Given the description of an element on the screen output the (x, y) to click on. 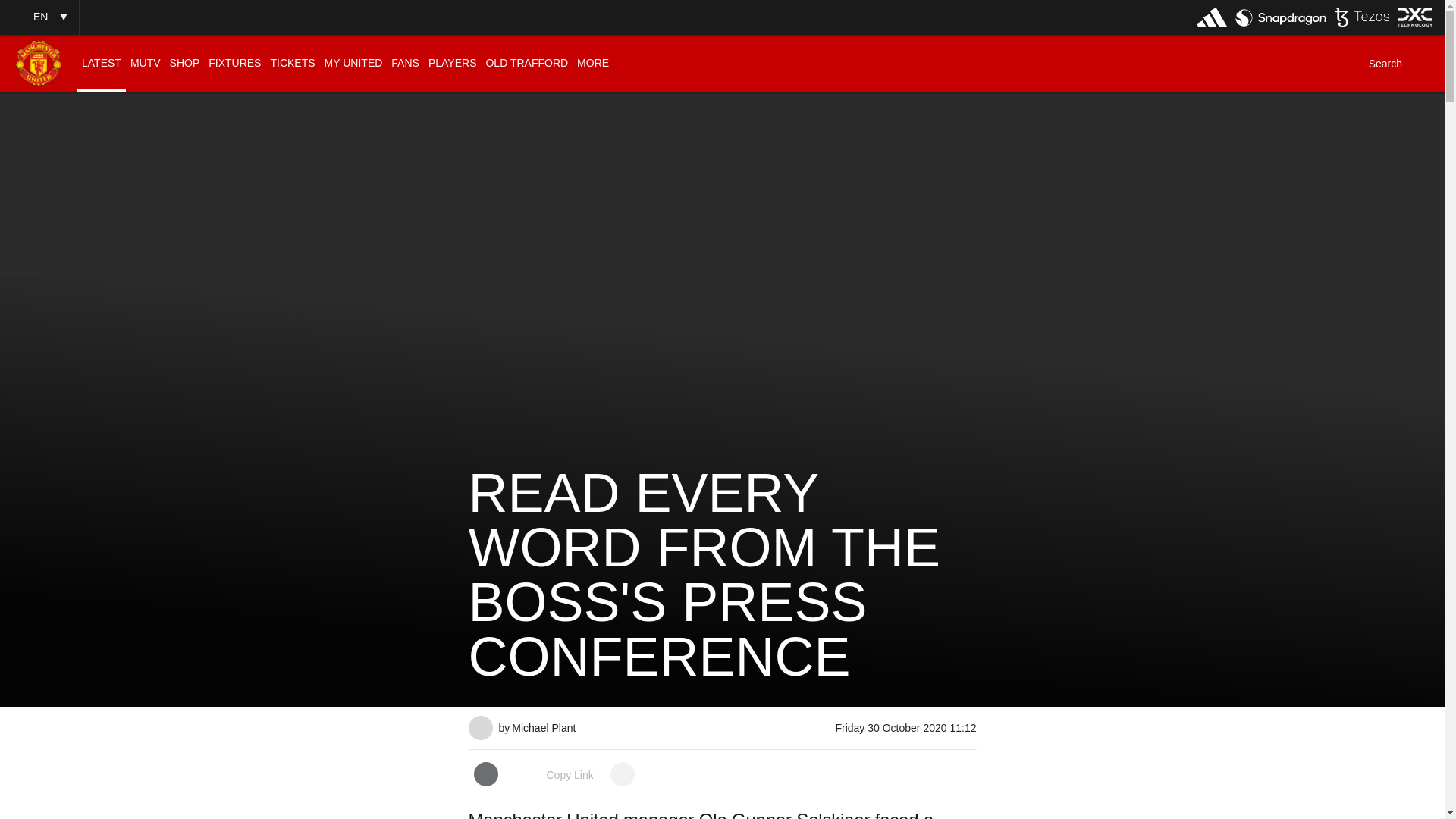
MY UNITED (353, 63)
OLD TRAFFORD (526, 63)
FIXTURES (233, 63)
Copy Link (552, 774)
TICKETS (291, 63)
PLAYERS (452, 63)
